Given the description of an element on the screen output the (x, y) to click on. 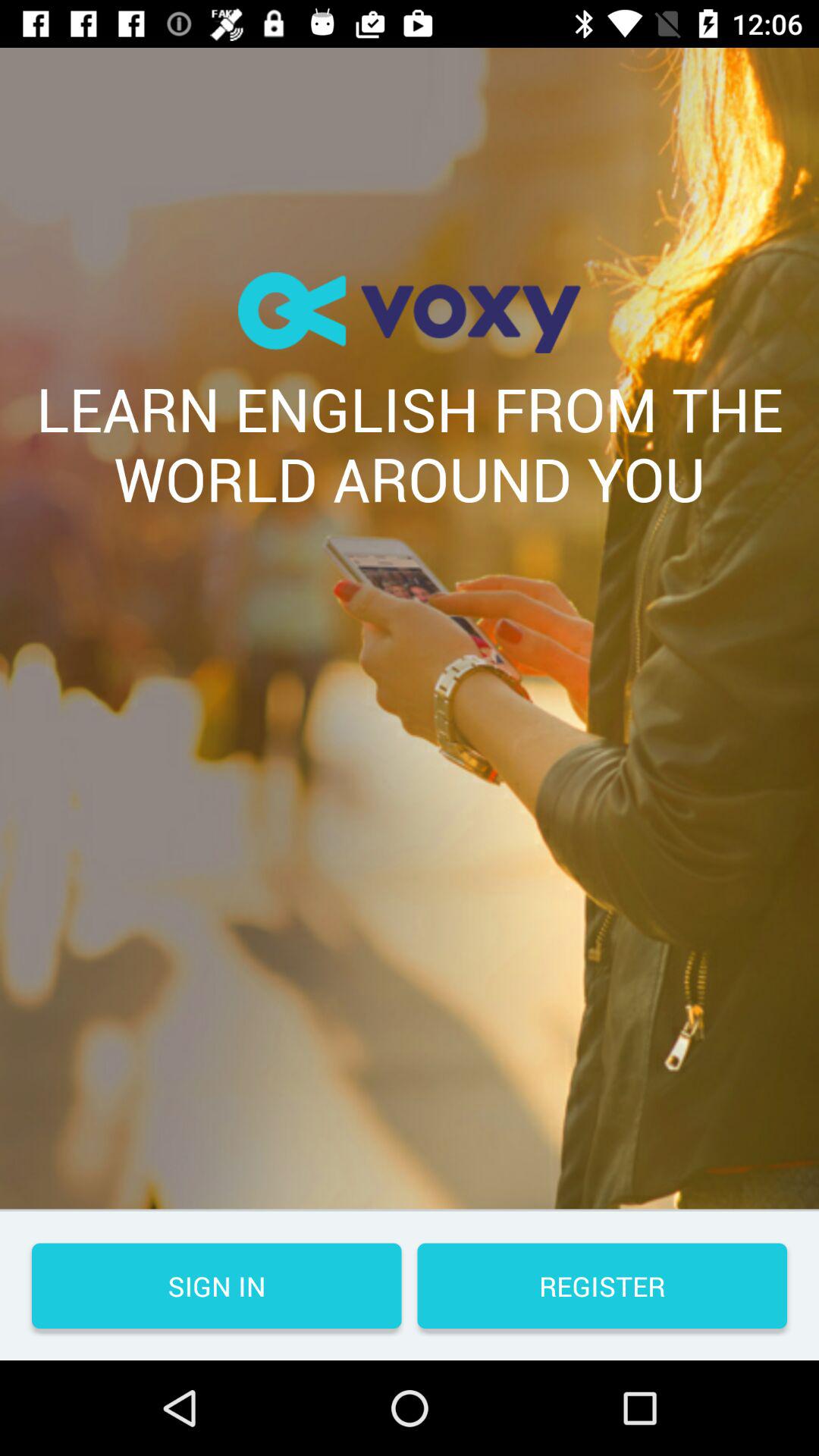
turn off the item next to the register button (216, 1285)
